Given the description of an element on the screen output the (x, y) to click on. 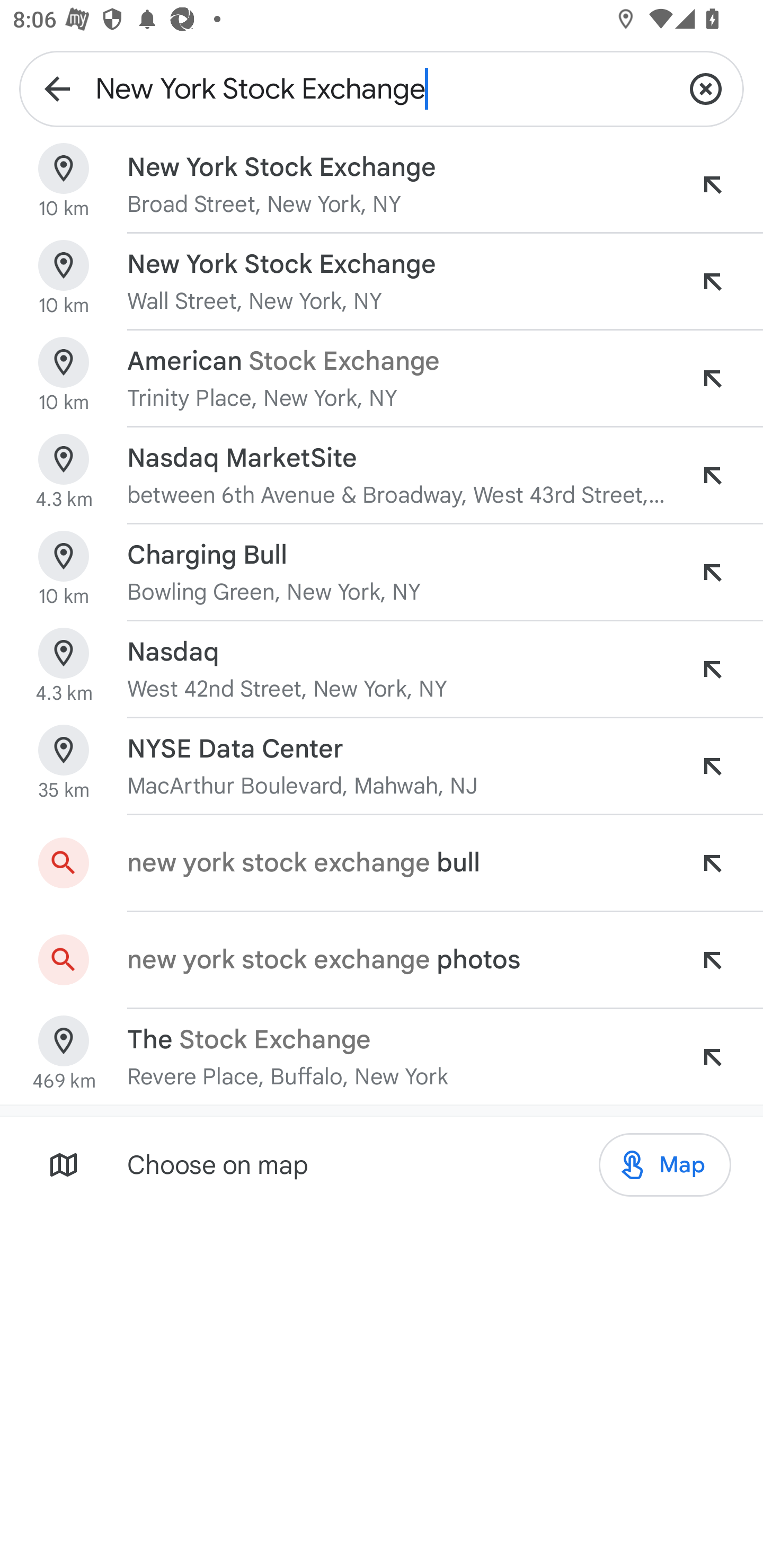
Navigate up (57, 88)
New York Stock Exchange (381, 88)
Clear (705, 88)
Choose on map Map Map Map (381, 1164)
Map Map Map (664, 1164)
